Given the description of an element on the screen output the (x, y) to click on. 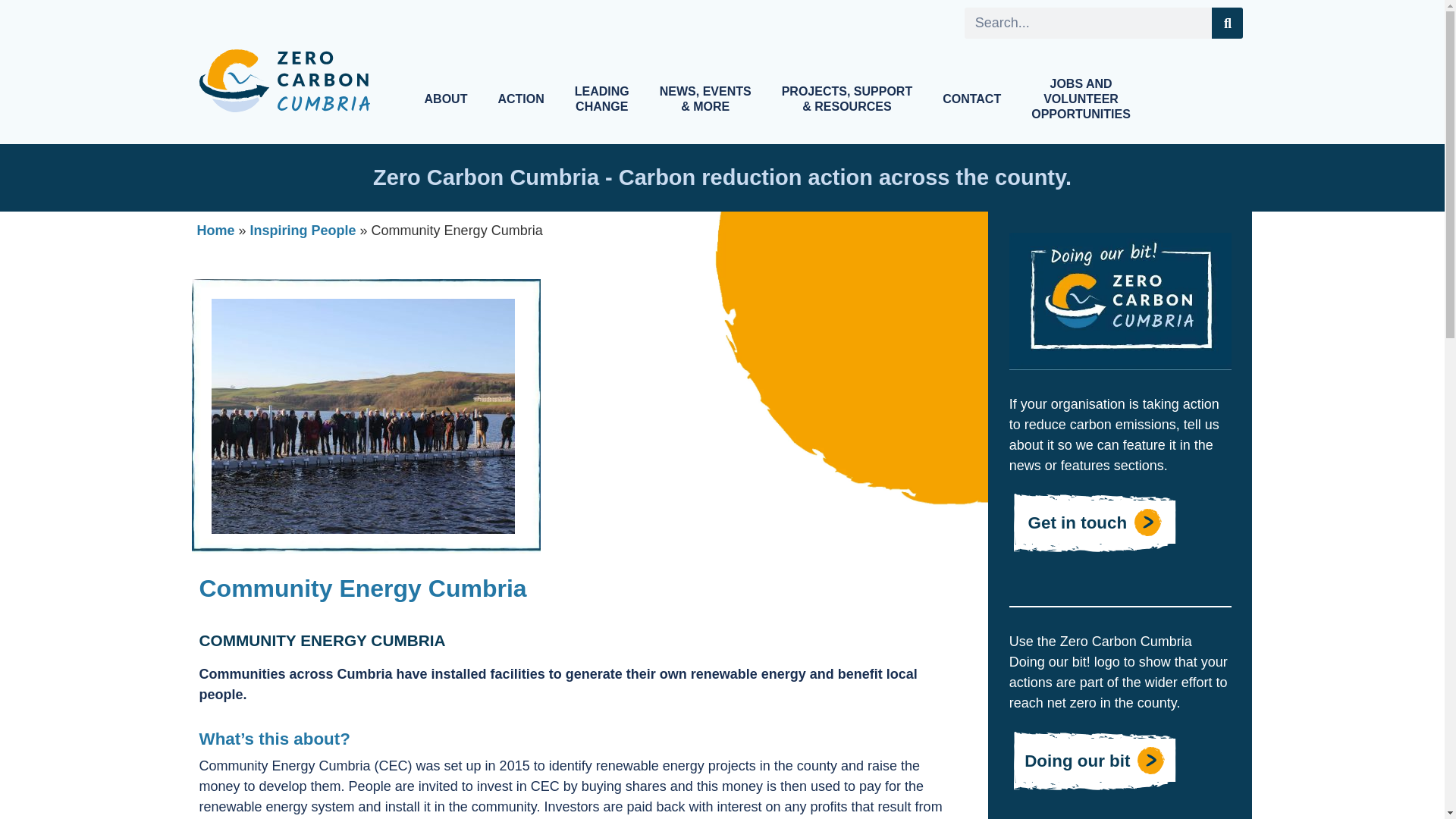
ABOUT (446, 98)
CONTACT (602, 98)
CEC (971, 98)
ACTION (362, 415)
